Given the description of an element on the screen output the (x, y) to click on. 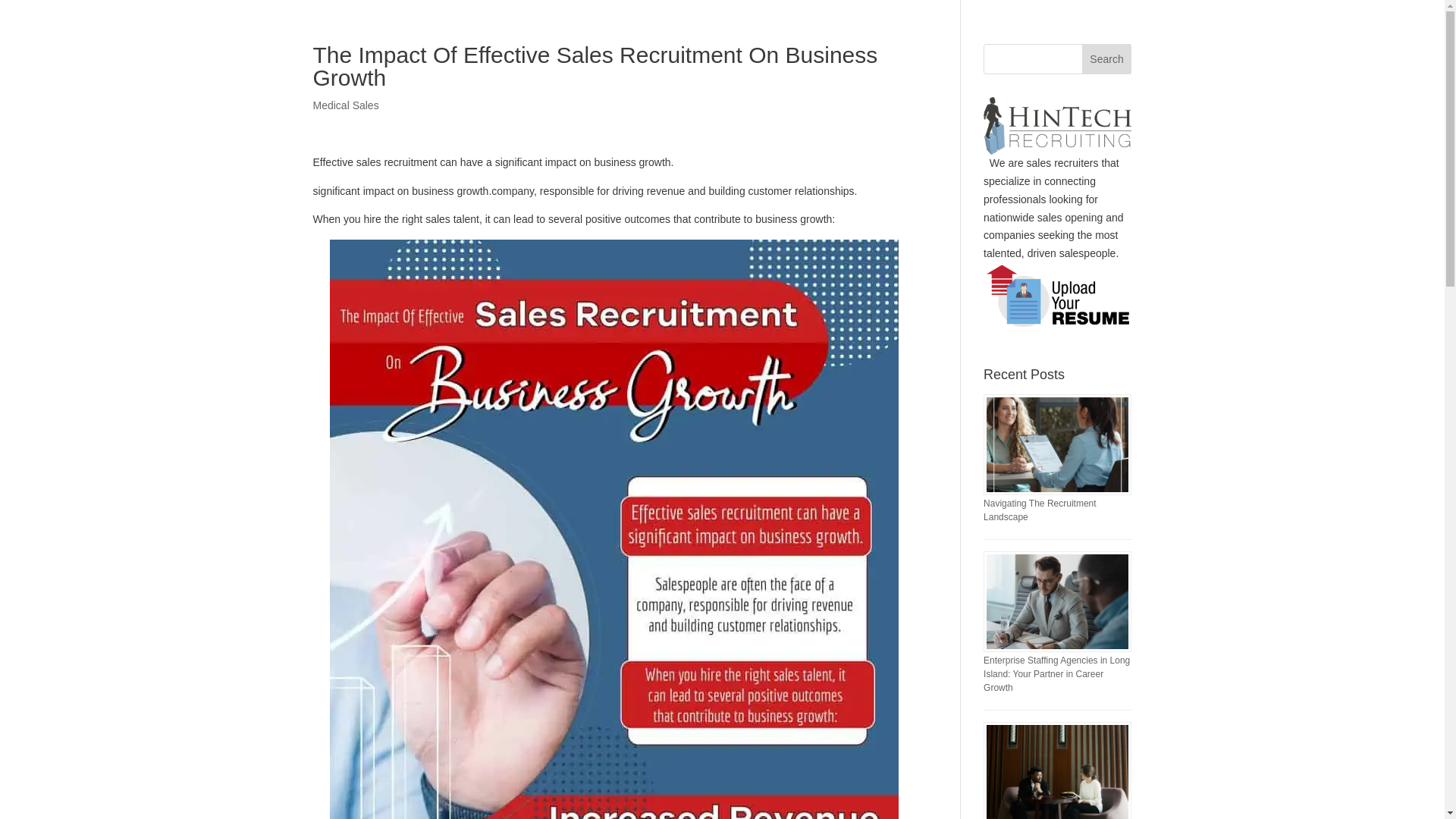
Search (1106, 59)
Medical Sales (345, 105)
Search (1106, 59)
Navigating The Recruitment Landscape (1040, 509)
